Given the description of an element on the screen output the (x, y) to click on. 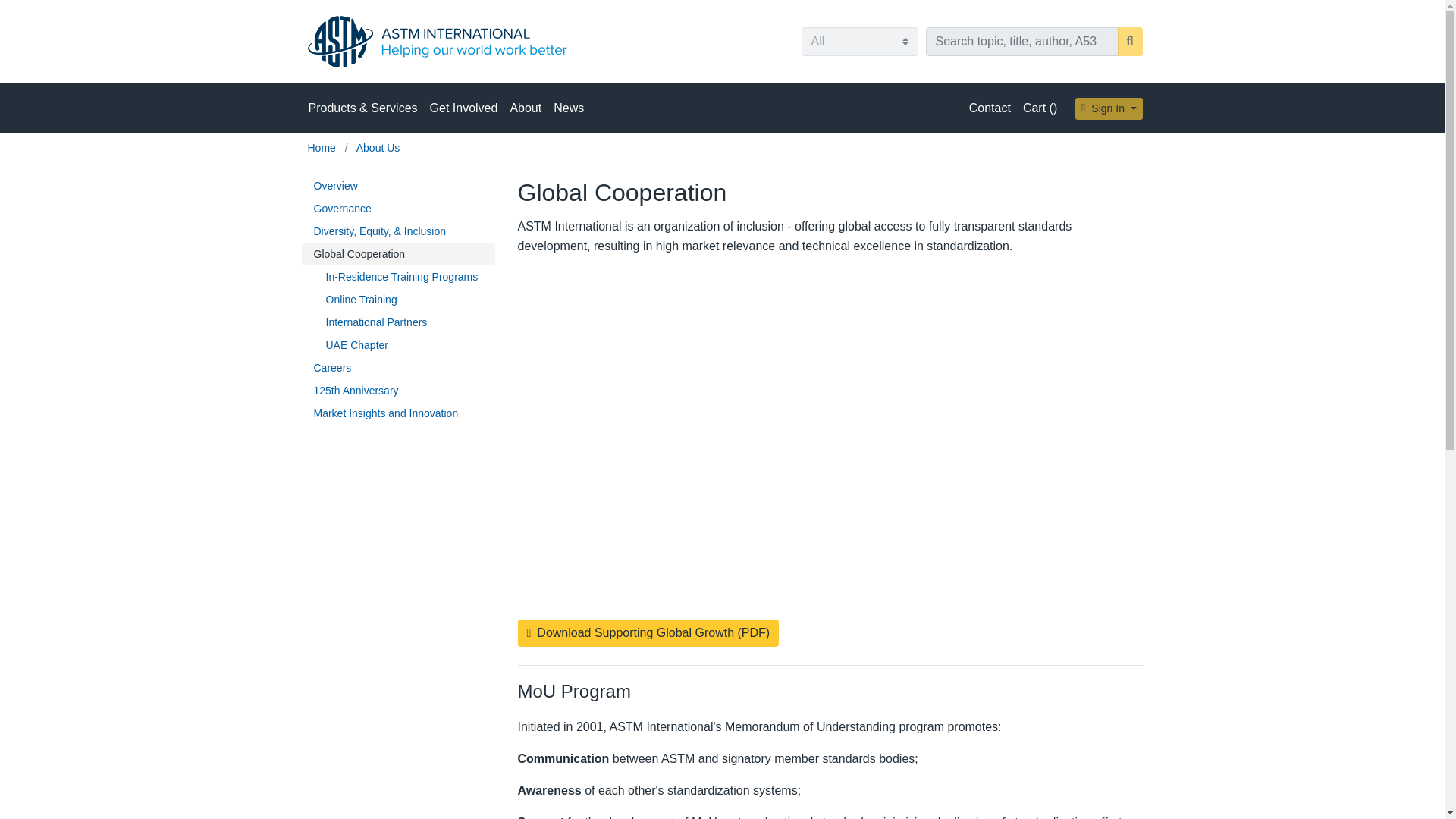
Go to Home Page (323, 147)
All (858, 41)
